Given the description of an element on the screen output the (x, y) to click on. 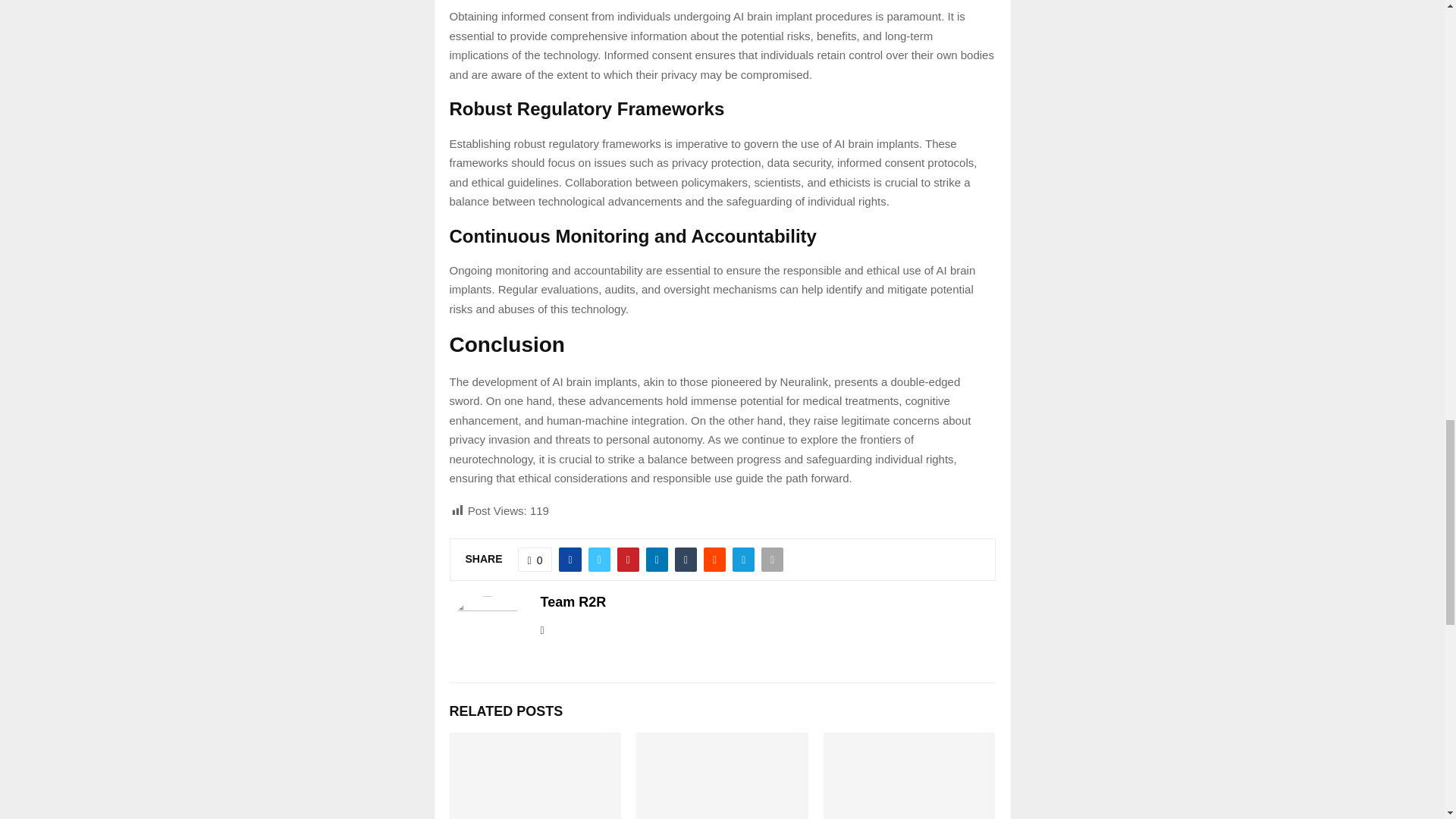
Like (535, 559)
Posts by Team R2R (572, 601)
